Given the description of an element on the screen output the (x, y) to click on. 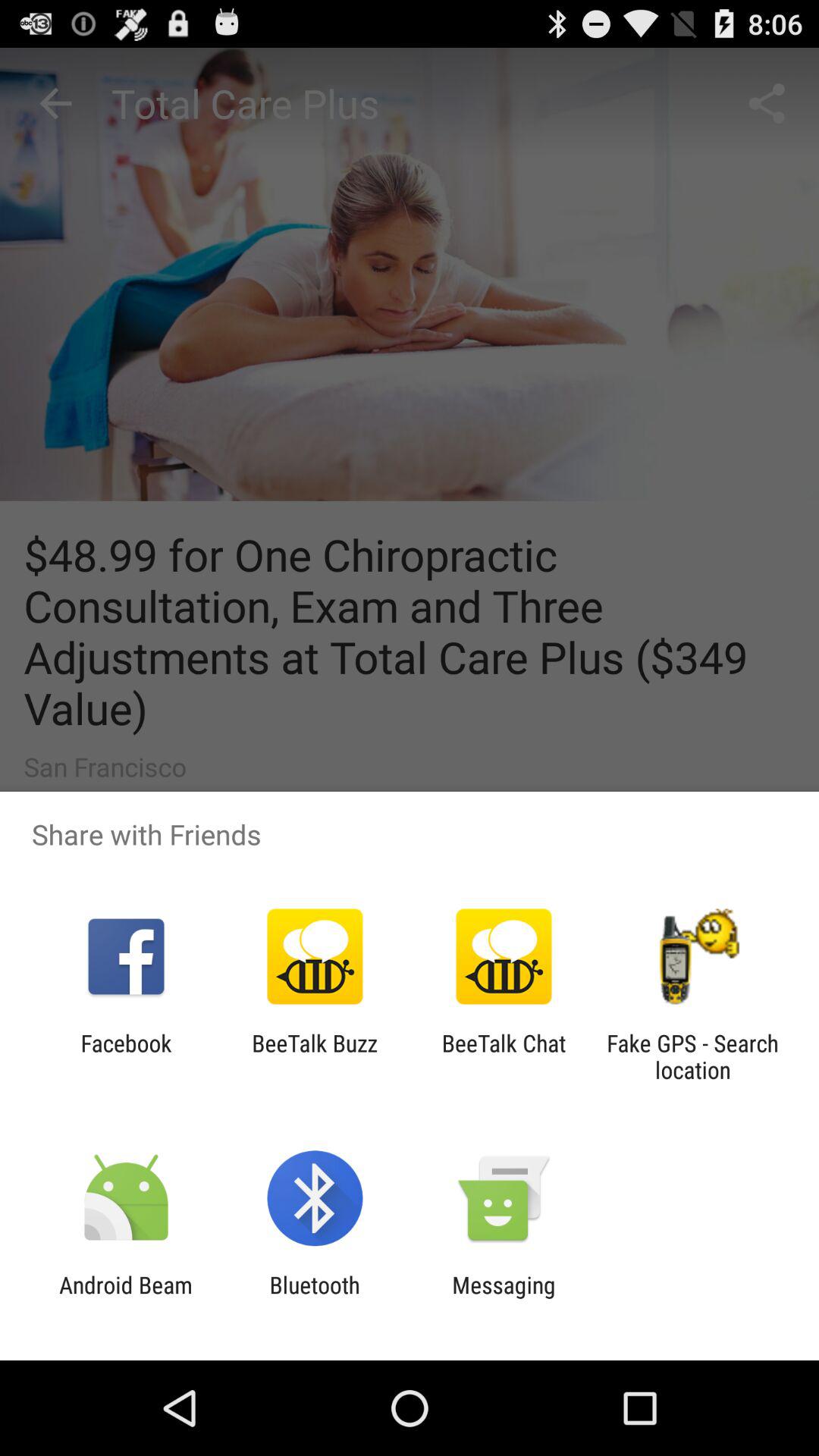
click the messaging (503, 1298)
